Given the description of an element on the screen output the (x, y) to click on. 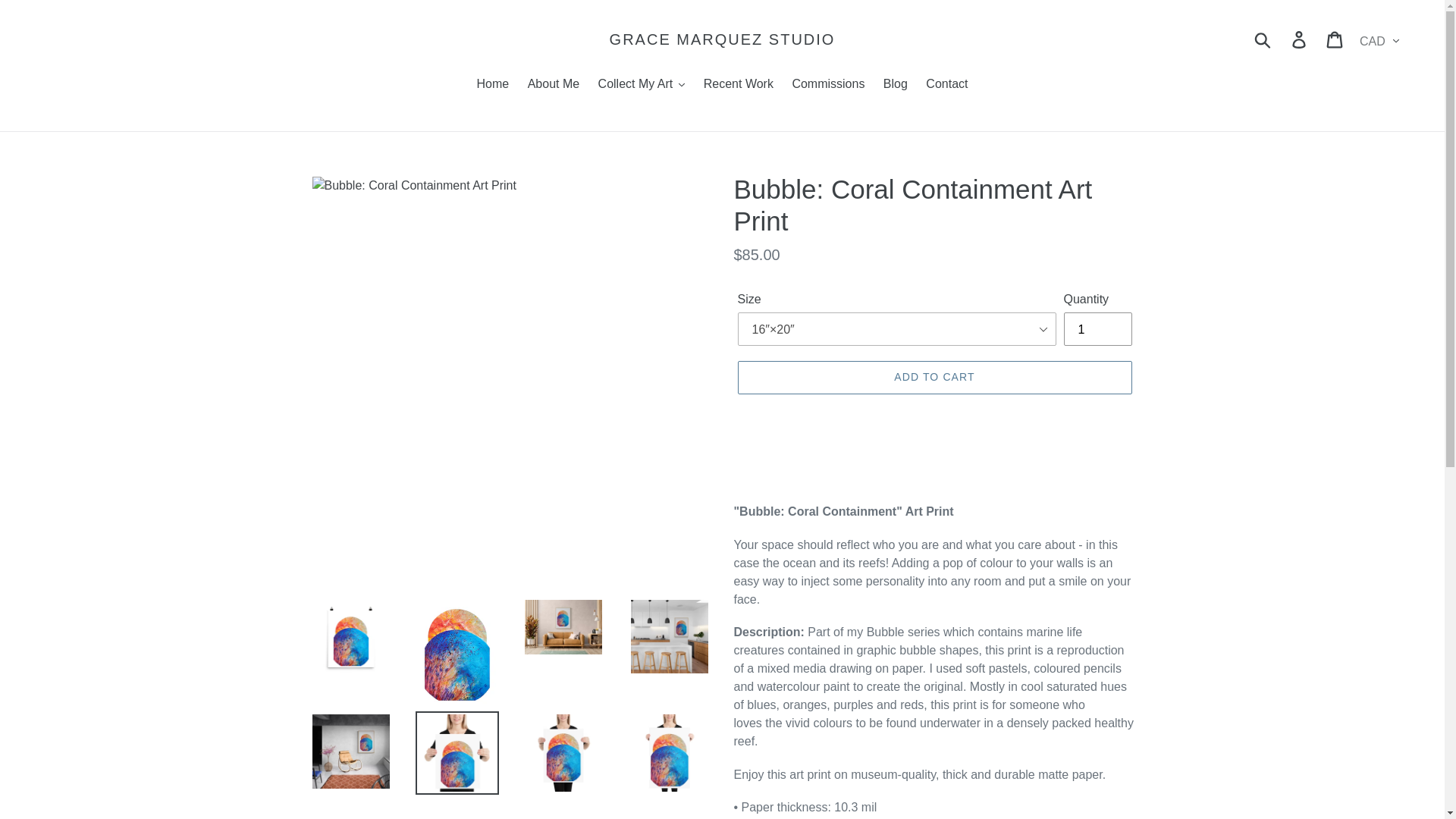
Cart (1335, 39)
Home (492, 85)
Recent Work (737, 85)
About Me (552, 85)
GRACE MARQUEZ STUDIO (722, 39)
1 (1096, 328)
Submit (1263, 39)
Blog (895, 85)
ADD TO CART (933, 377)
Contact (946, 85)
